Given the description of an element on the screen output the (x, y) to click on. 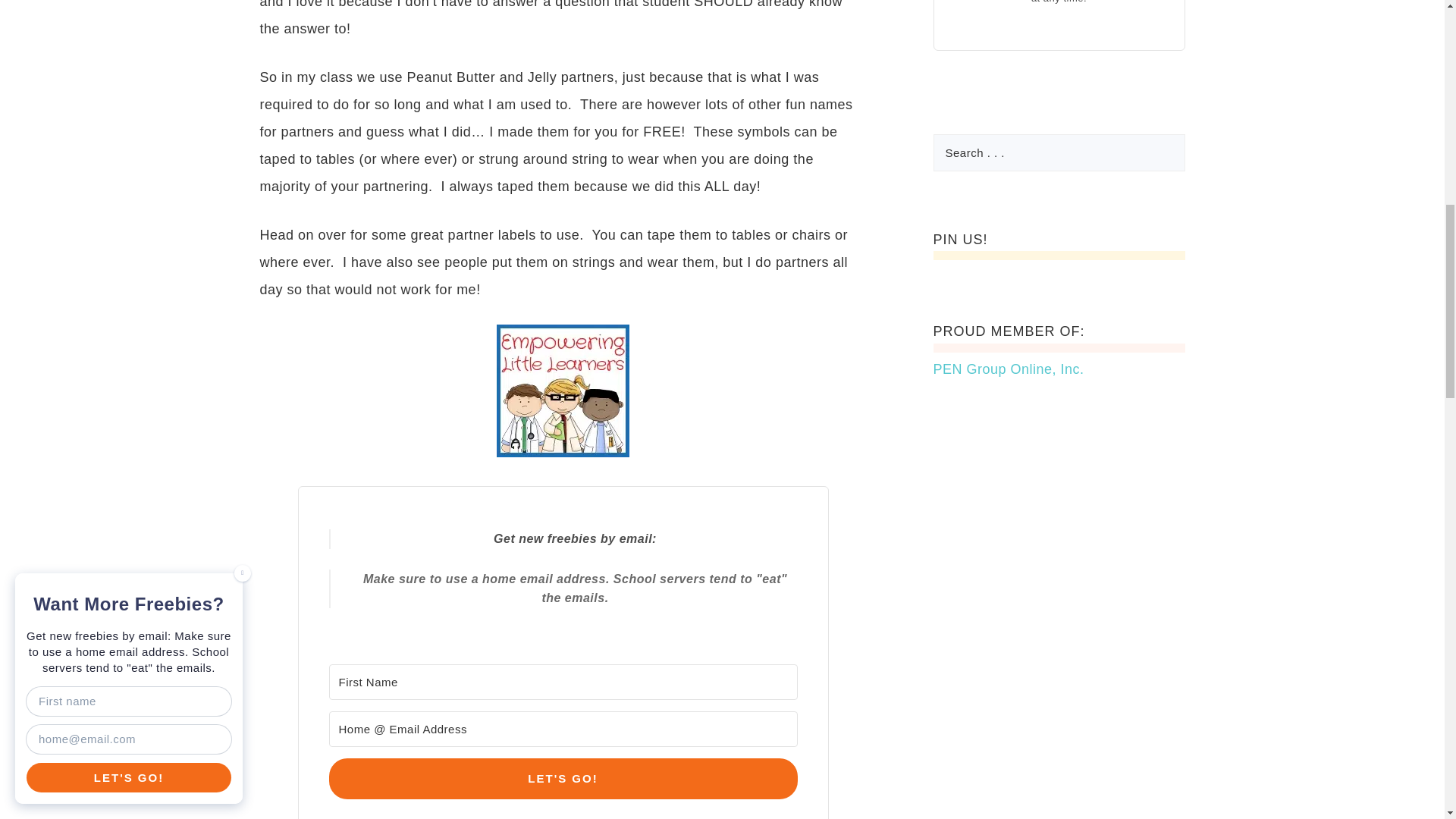
LET'S GO! (563, 778)
